Given the description of an element on the screen output the (x, y) to click on. 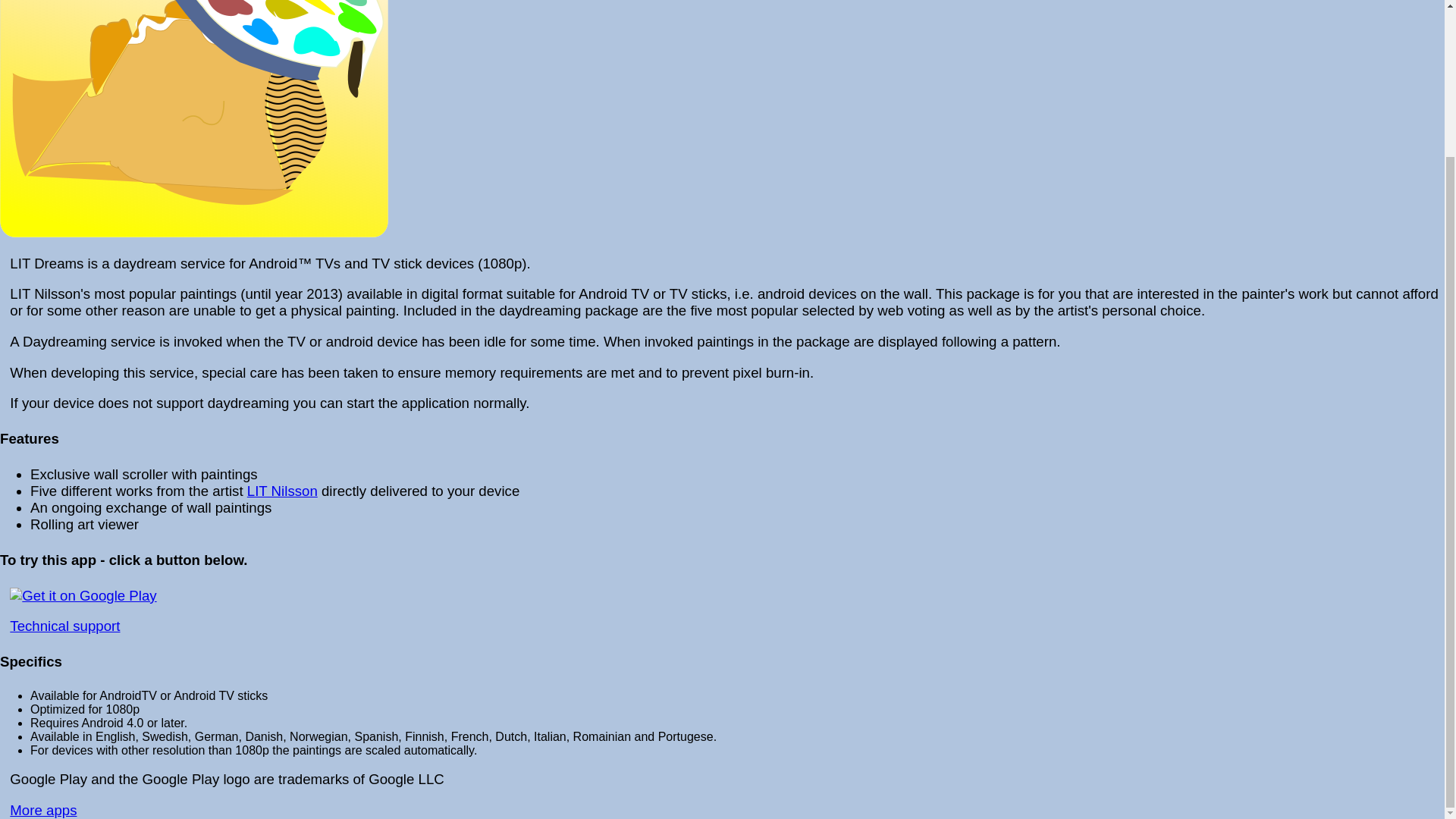
Technical support (64, 625)
LIT Nilsson (282, 490)
More apps (43, 810)
